Given the description of an element on the screen output the (x, y) to click on. 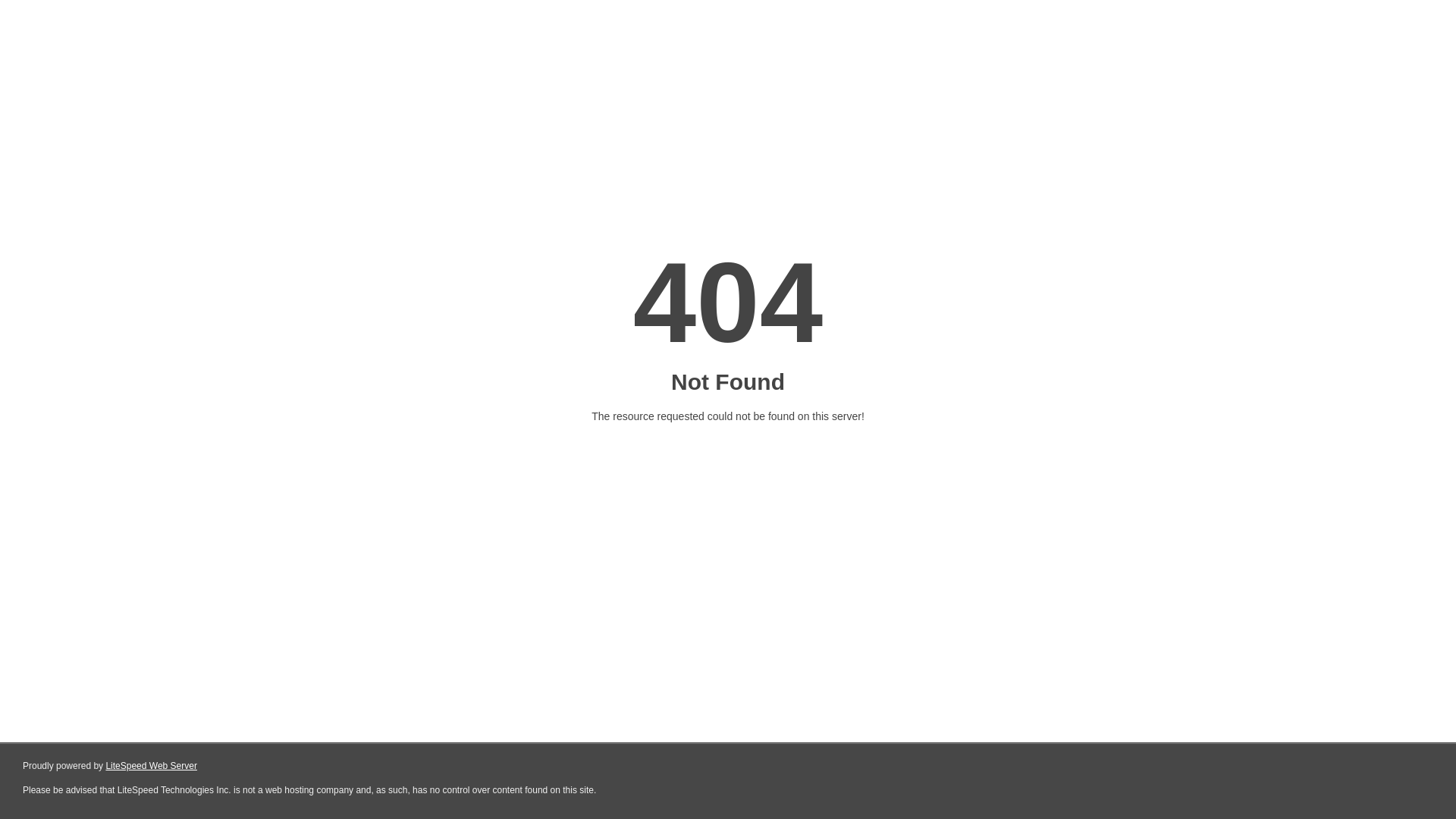
LiteSpeed Web Server Element type: text (151, 765)
